Given the description of an element on the screen output the (x, y) to click on. 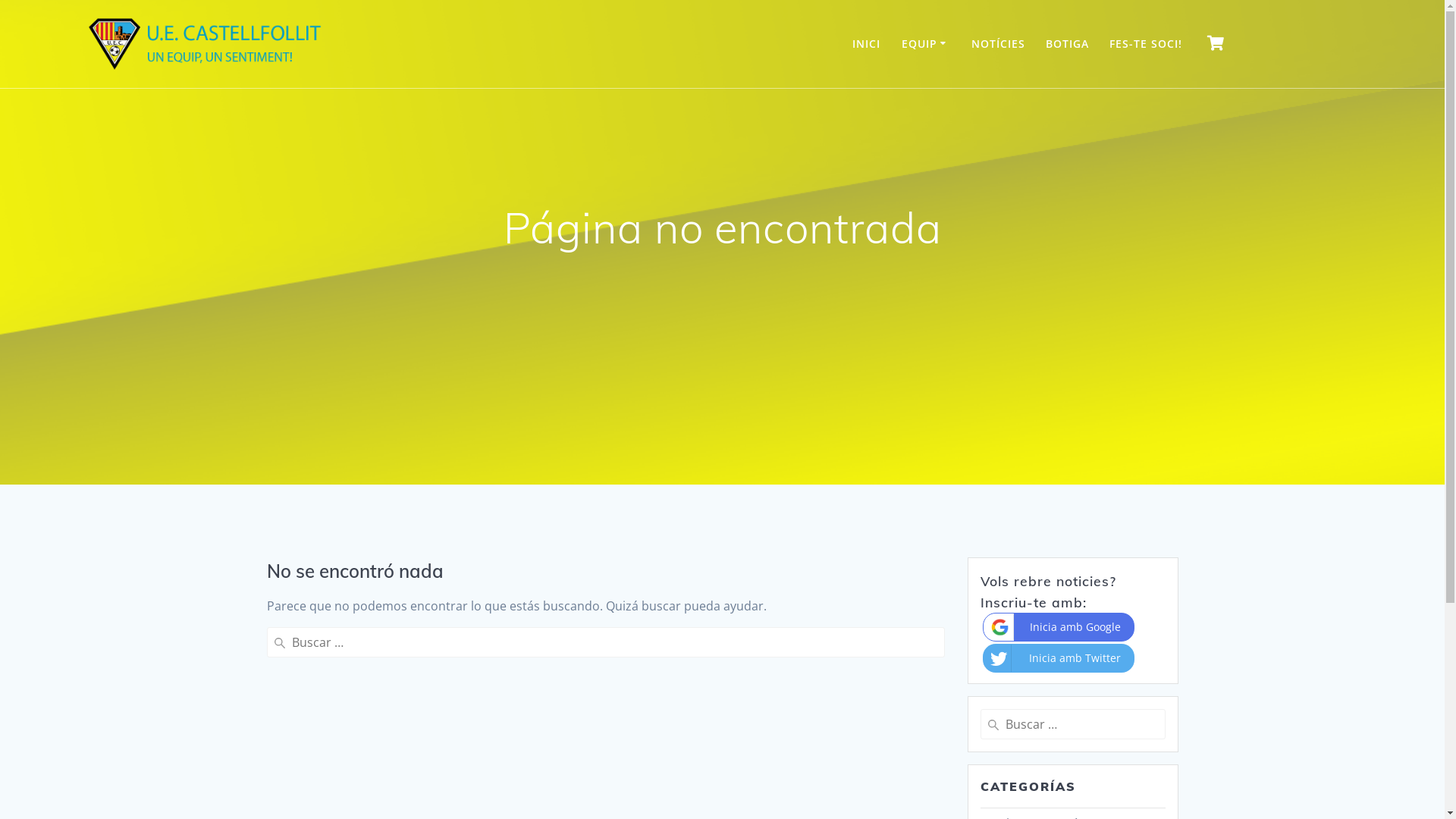
INICI Element type: text (866, 43)
FES-TE SOCI! Element type: text (1145, 43)
Inicia amb Twitter Element type: text (1058, 657)
EQUIP Element type: text (925, 43)
BOTIGA Element type: text (1066, 43)
Inicia amb Google Element type: text (1058, 626)
